Given the description of an element on the screen output the (x, y) to click on. 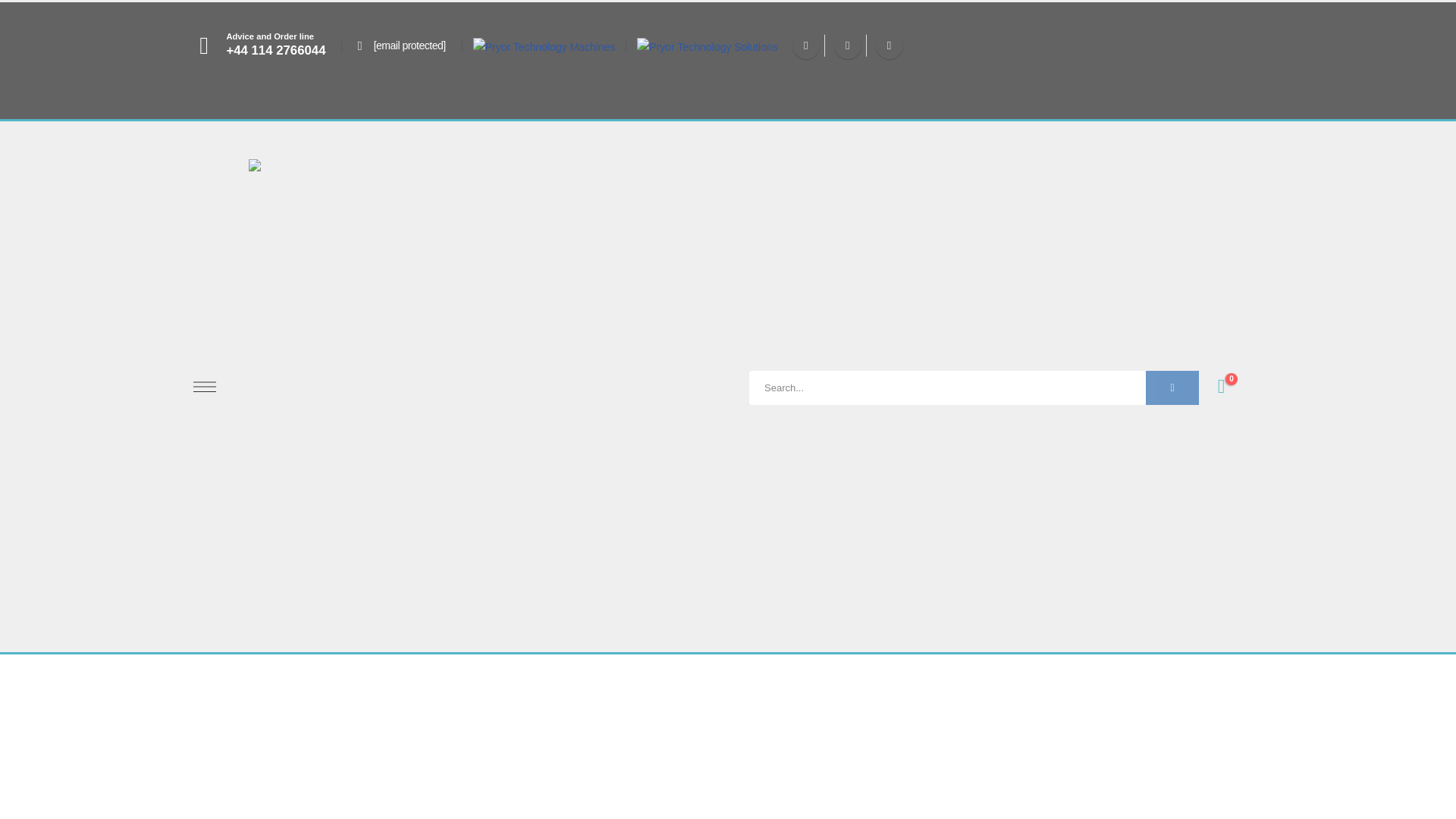
Pryor Technology Solutions (707, 46)
Pryor Technology Machines (544, 46)
Search (1171, 387)
Facebook (805, 44)
Youtube (847, 44)
Instagram (889, 44)
